Given the description of an element on the screen output the (x, y) to click on. 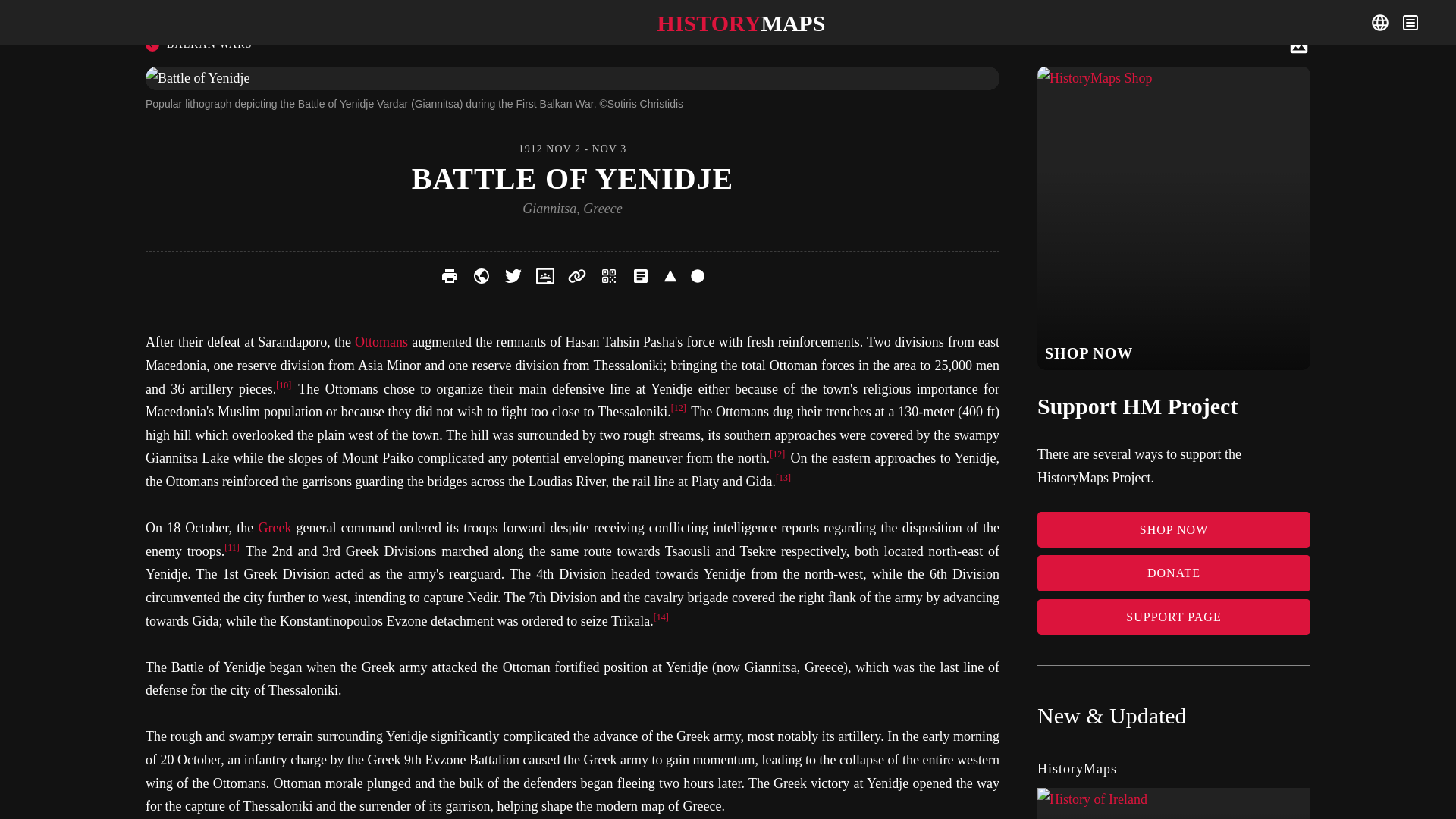
Ottomans (381, 341)
